Given the description of an element on the screen output the (x, y) to click on. 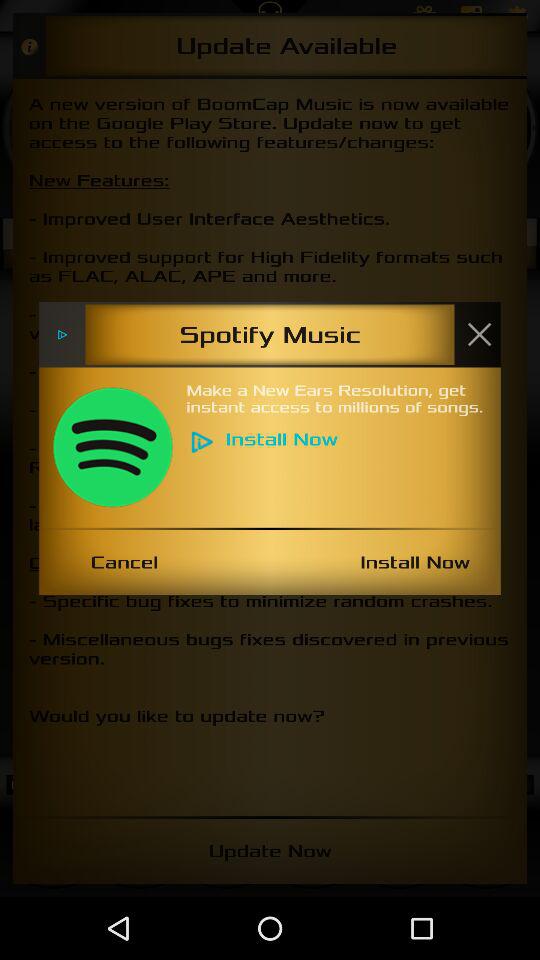
press item below the spotify music (112, 447)
